Given the description of an element on the screen output the (x, y) to click on. 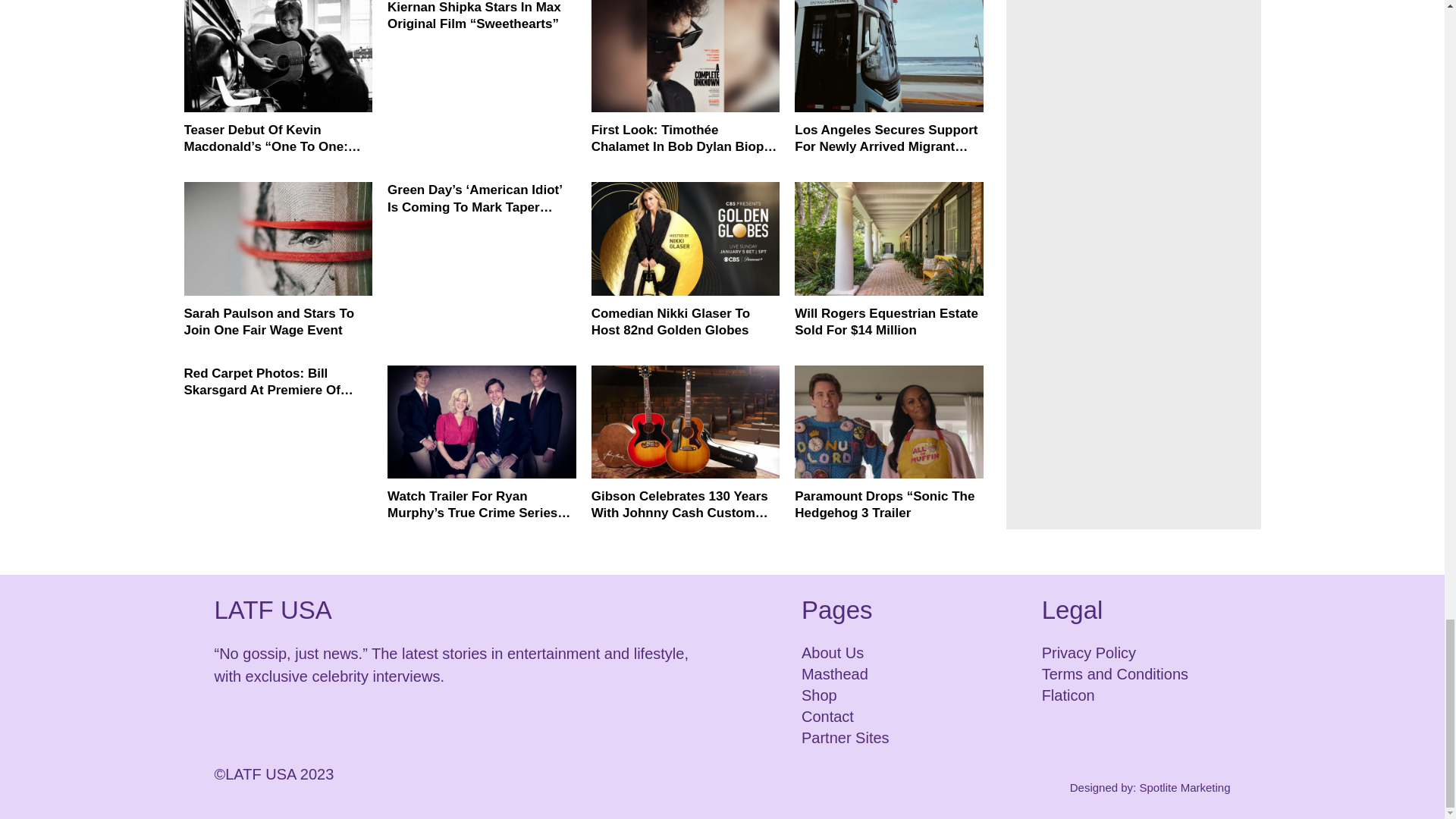
Nikki-Glaser host golden globes (685, 237)
will rogers home pacific palisades (889, 237)
image (277, 56)
immigrants los angeles karen bass (889, 56)
fair wage west hollywood, fair one wage (277, 237)
sonic the hedgehog 3 trailer (889, 421)
